Given the description of an element on the screen output the (x, y) to click on. 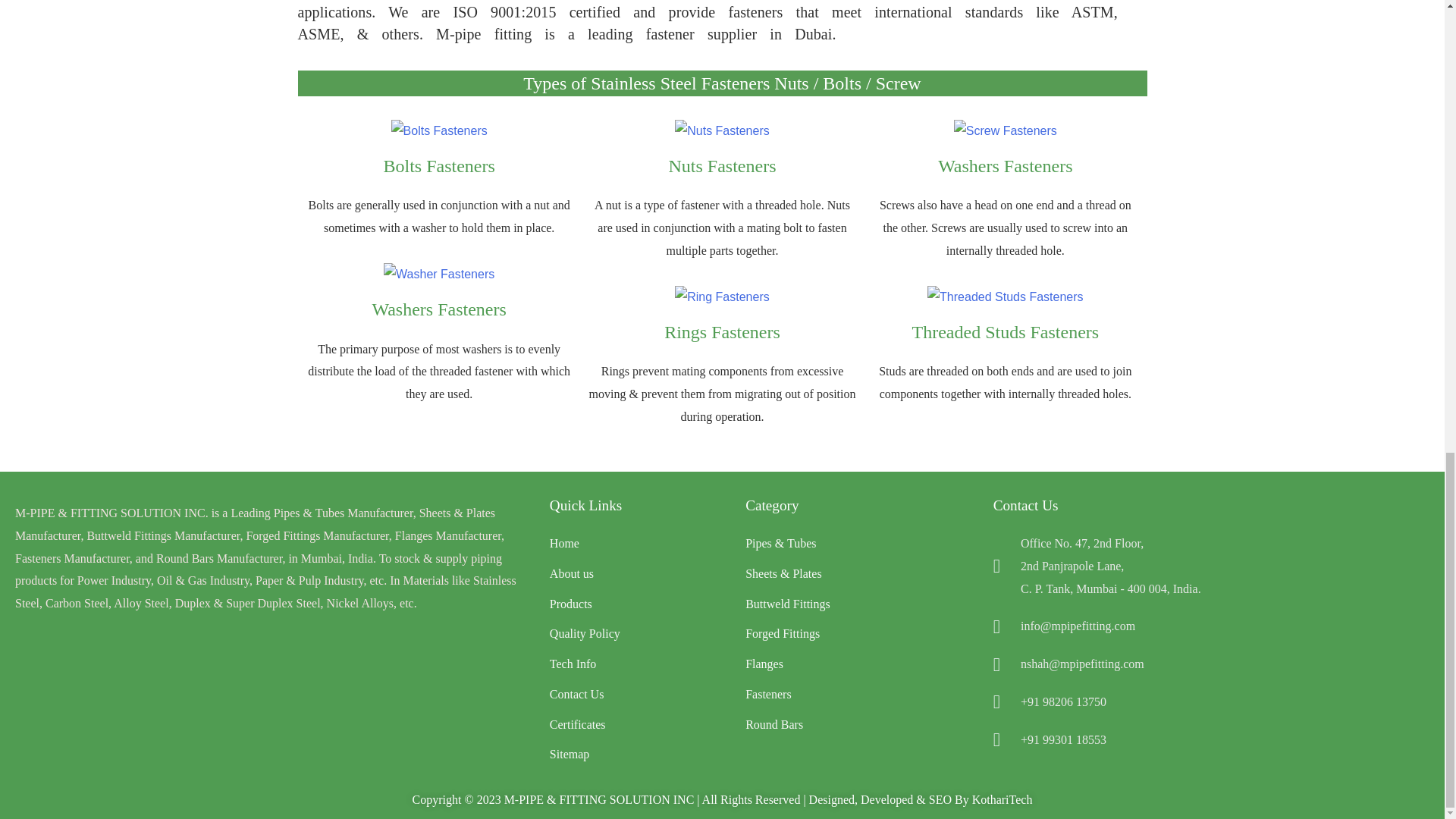
Bolts Fasteners (439, 166)
Washers Fasteners (1004, 166)
Washers Fasteners (438, 309)
Nuts Fasteners (722, 166)
Rings Fasteners (721, 332)
